Given the description of an element on the screen output the (x, y) to click on. 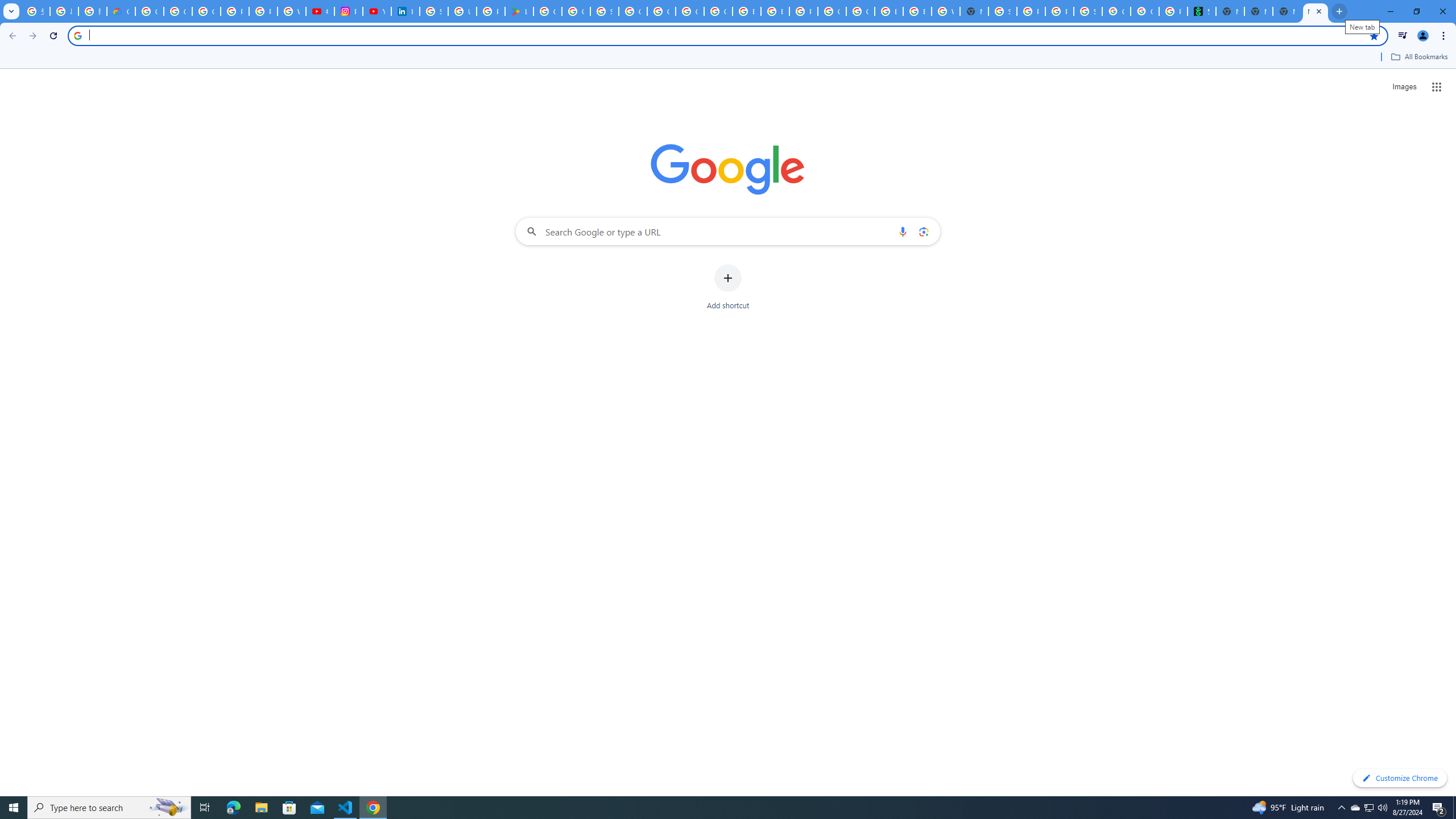
Browse Chrome as a guest - Computer - Google Chrome Help (746, 11)
Sign in - Google Accounts (433, 11)
#nbabasketballhighlights - YouTube (320, 11)
Add shortcut (727, 287)
Privacy Help Center - Policies Help (234, 11)
